Given the description of an element on the screen output the (x, y) to click on. 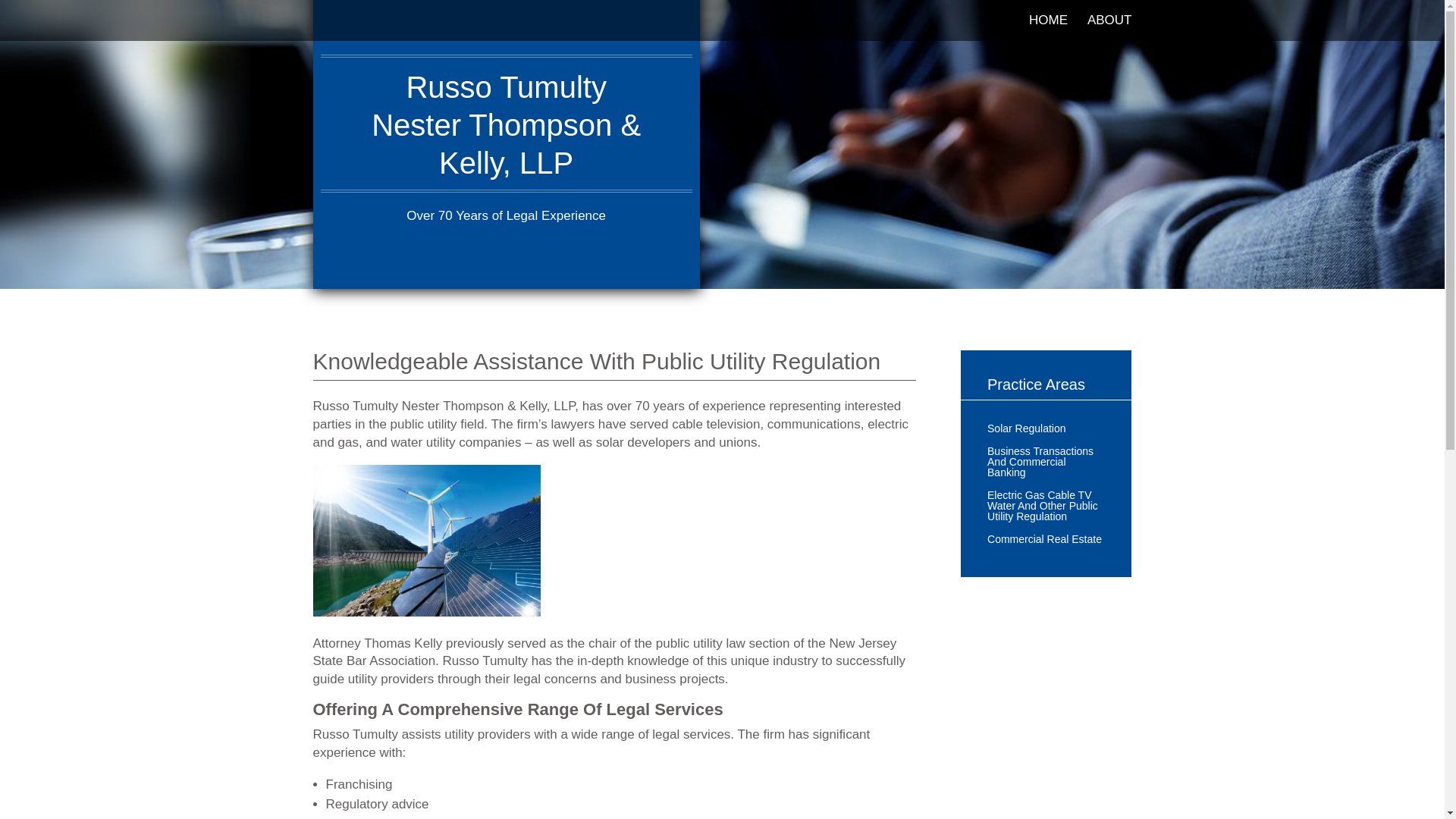
HOME (1048, 27)
ABOUT (1109, 27)
Commercial Real Estate (1044, 541)
Solar Regulation (1026, 431)
Business Transactions And Commercial Banking (1046, 464)
